Given the description of an element on the screen output the (x, y) to click on. 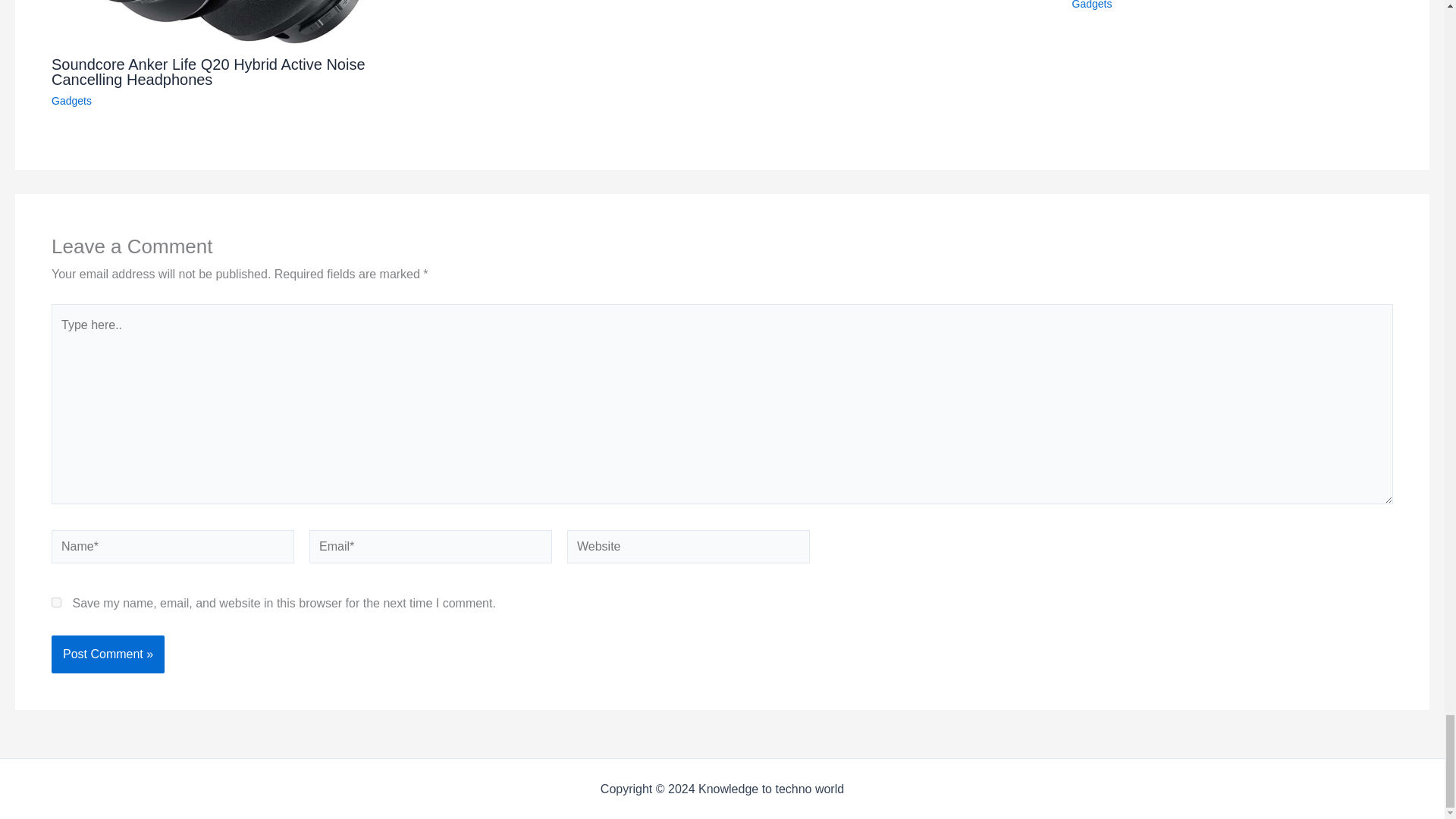
Gadgets (70, 101)
yes (55, 602)
Gadgets (1091, 4)
